Given the description of an element on the screen output the (x, y) to click on. 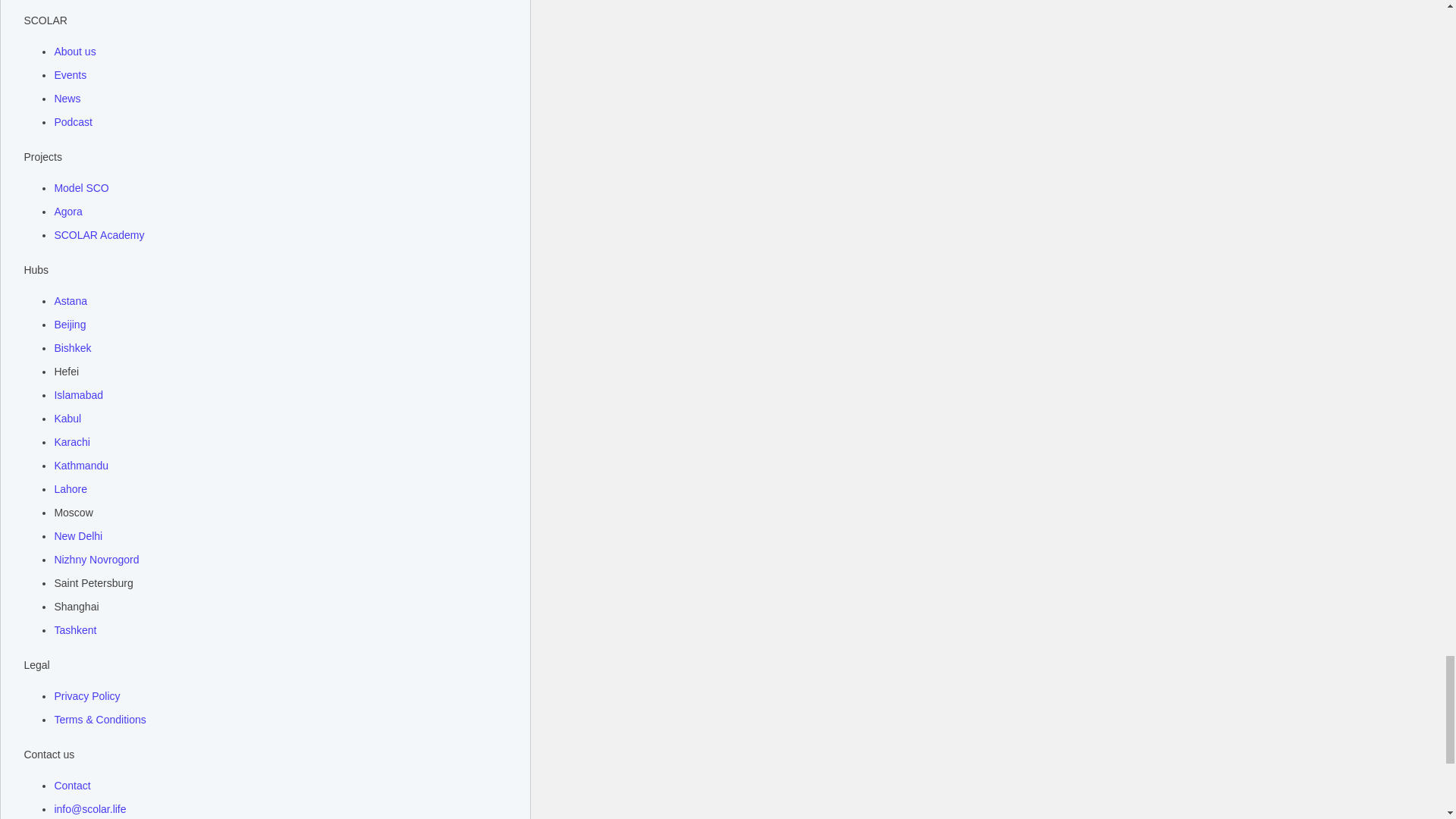
Bishkek (71, 348)
Karachi (70, 442)
Model SCO (80, 188)
Islamabad (78, 395)
Podcast (73, 122)
Astana (70, 301)
Events (69, 75)
Agora (67, 211)
News (66, 98)
About us (74, 51)
Kabul (67, 418)
Beijing (69, 324)
SCOLAR Academy (98, 235)
